Given the description of an element on the screen output the (x, y) to click on. 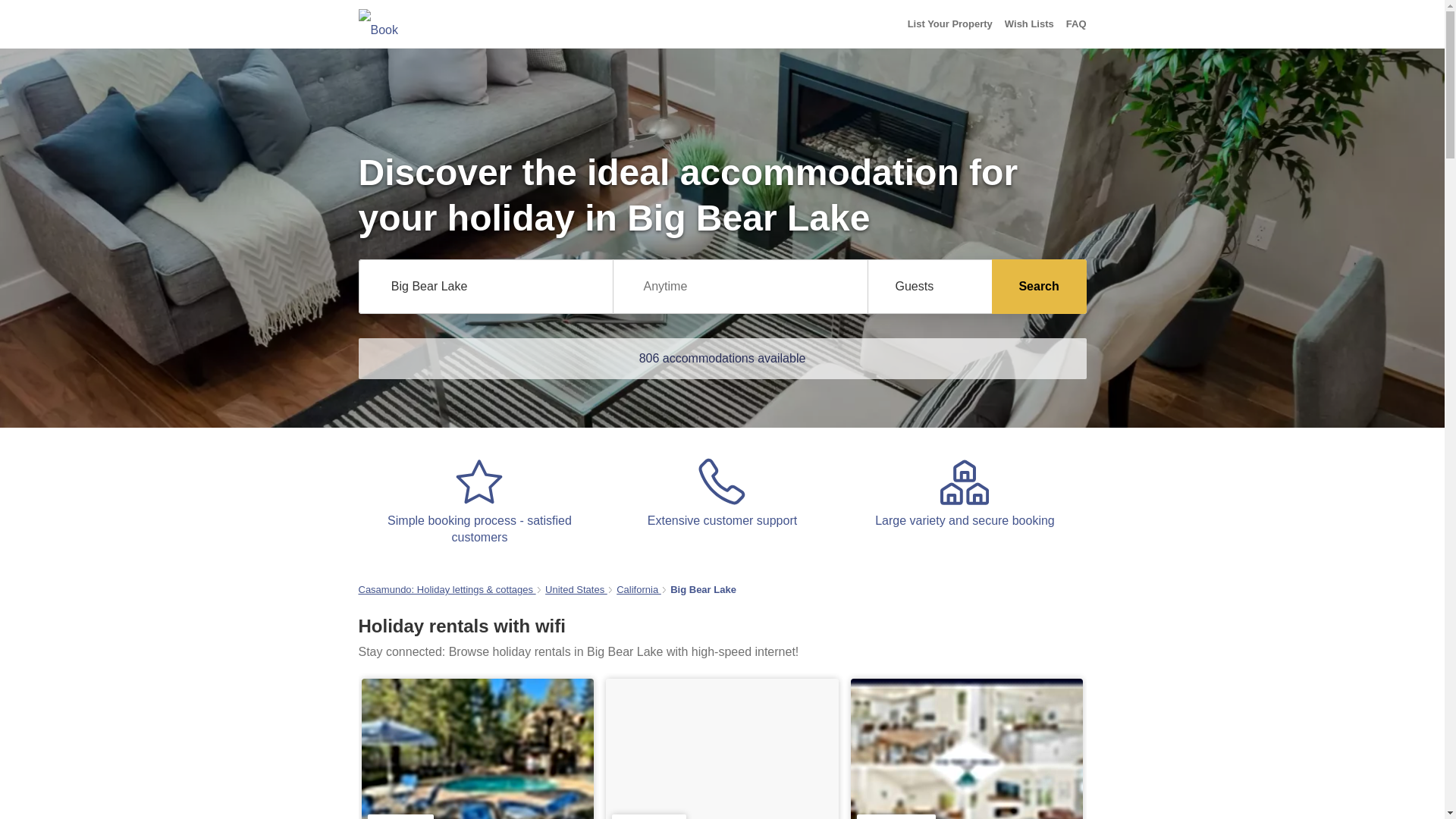
California (638, 589)
Wish Lists (1029, 24)
California (638, 589)
Search (1038, 286)
United States (575, 589)
List Your Property (949, 24)
FAQ (1075, 24)
United States (575, 589)
